Given the description of an element on the screen output the (x, y) to click on. 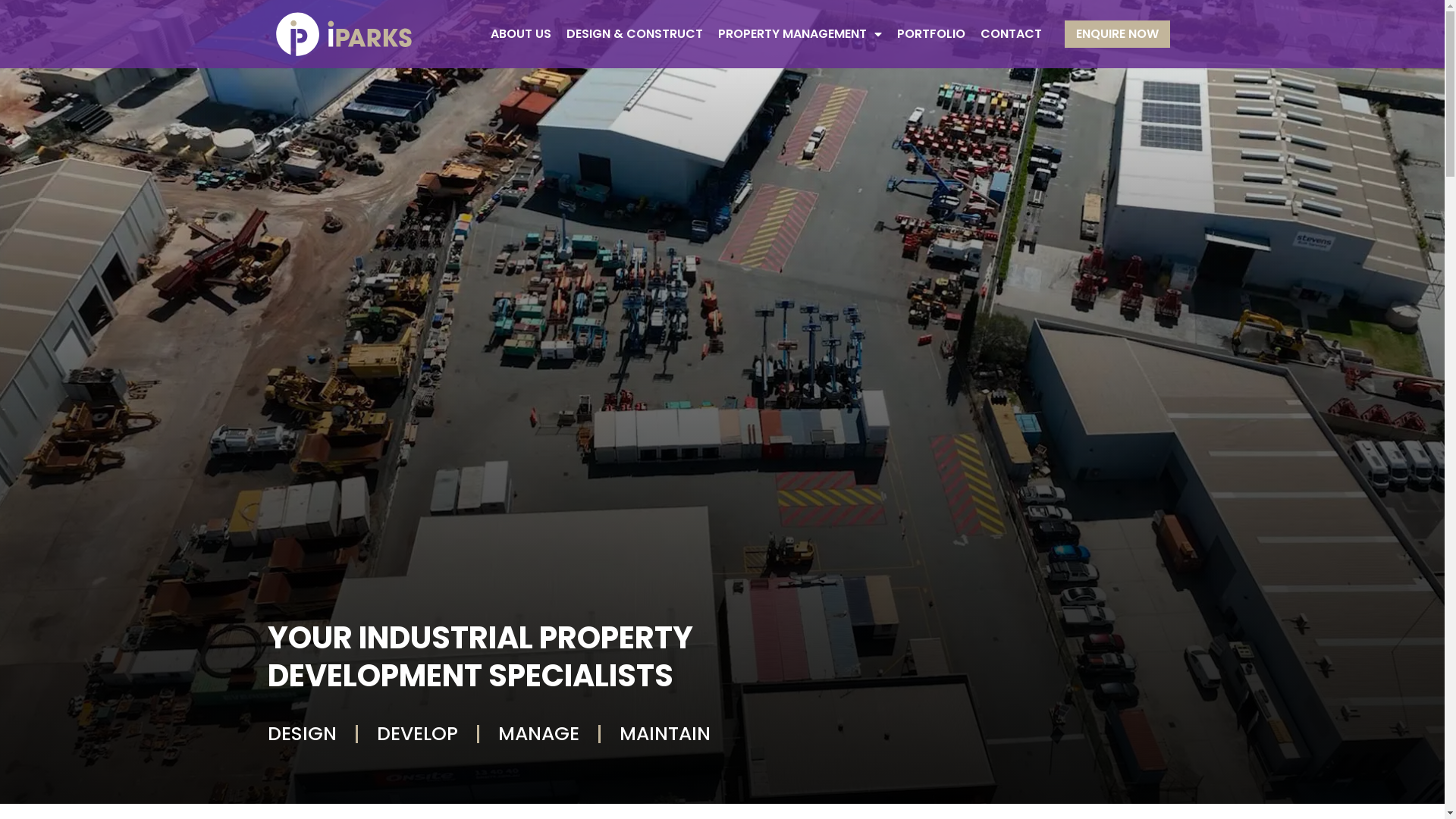
CONTACT Element type: text (1010, 33)
PORTFOLIO Element type: text (930, 33)
DESIGN & CONSTRUCT Element type: text (633, 33)
ENQUIRE NOW Element type: text (1117, 33)
PROPERTY MANAGEMENT Element type: text (798, 33)
ABOUT US Element type: text (520, 33)
